Given the description of an element on the screen output the (x, y) to click on. 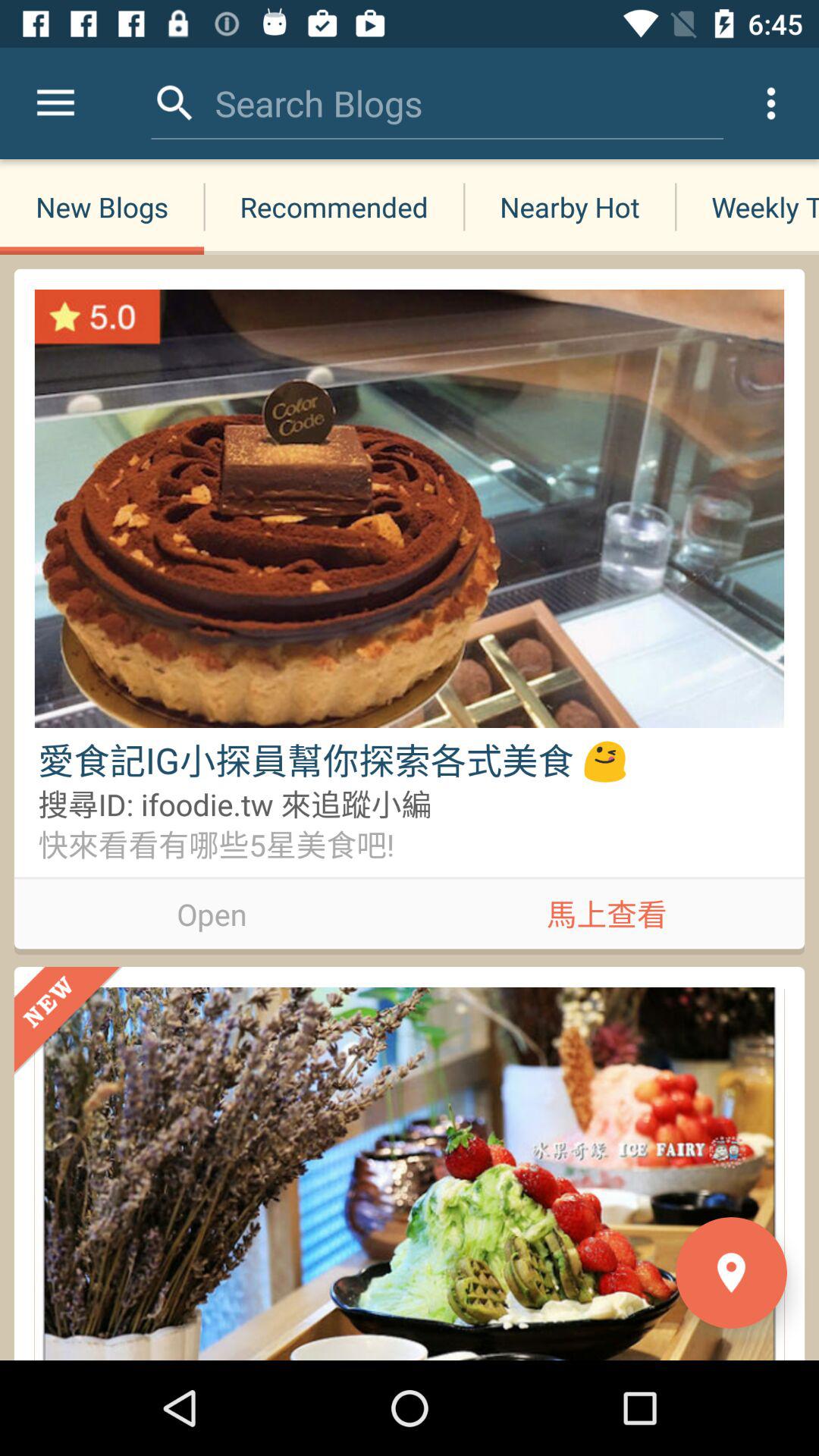
open the item above recommended (318, 103)
